Given the description of an element on the screen output the (x, y) to click on. 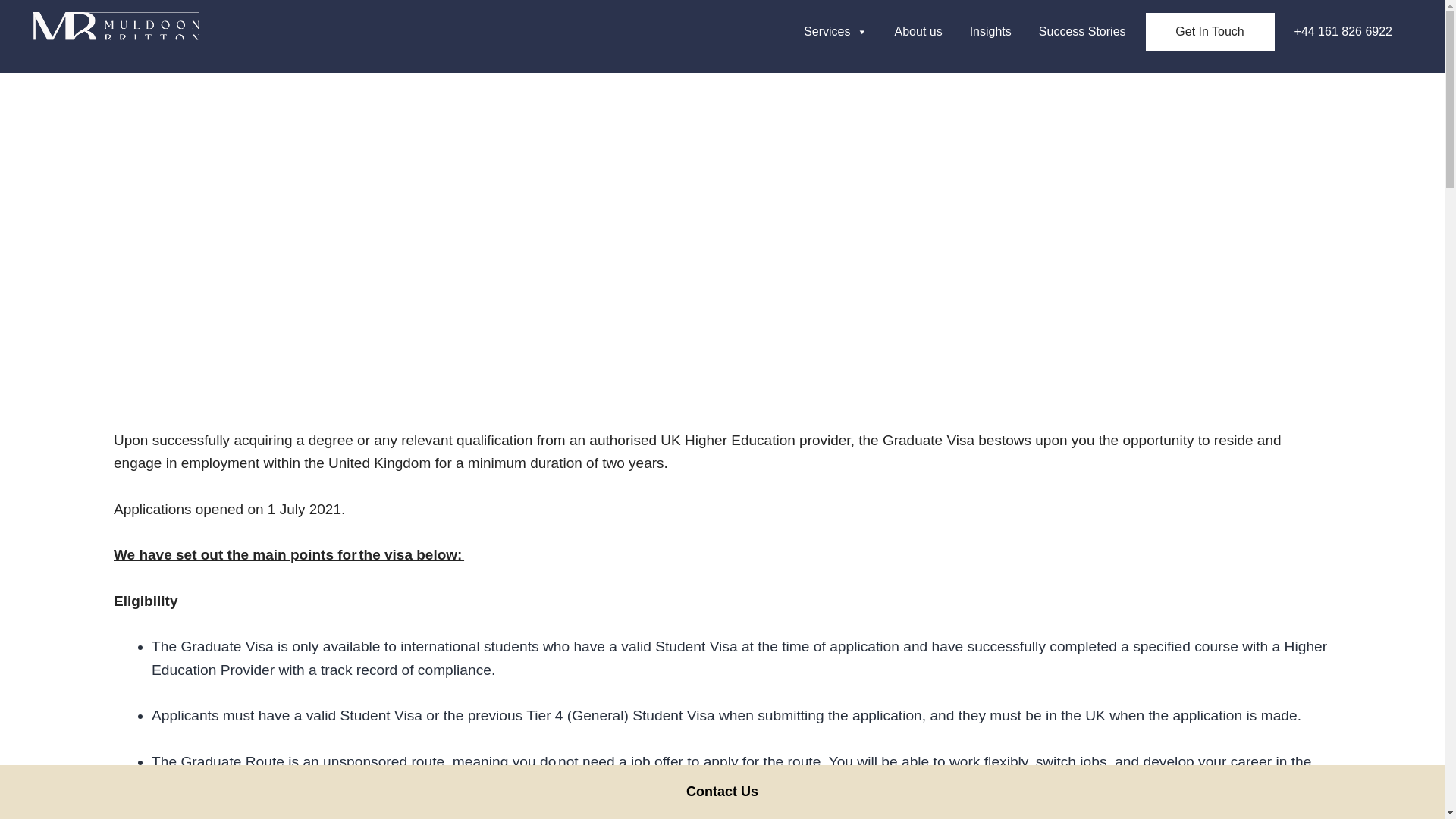
Services (835, 31)
Insights (990, 31)
Success Stories (1082, 31)
Get In Touch (1210, 31)
About us (918, 31)
